Given the description of an element on the screen output the (x, y) to click on. 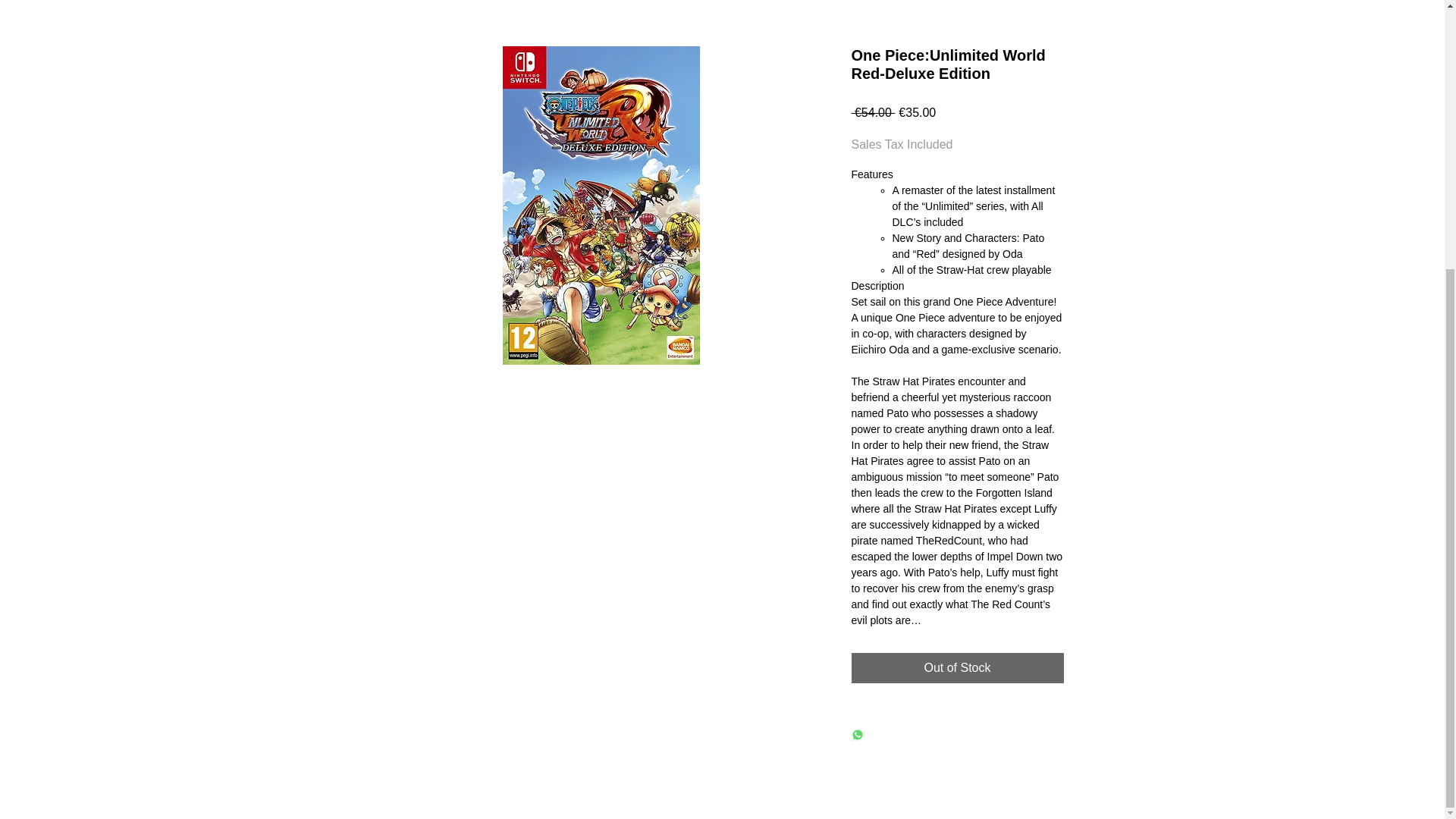
Out of Stock (956, 667)
